Given the description of an element on the screen output the (x, y) to click on. 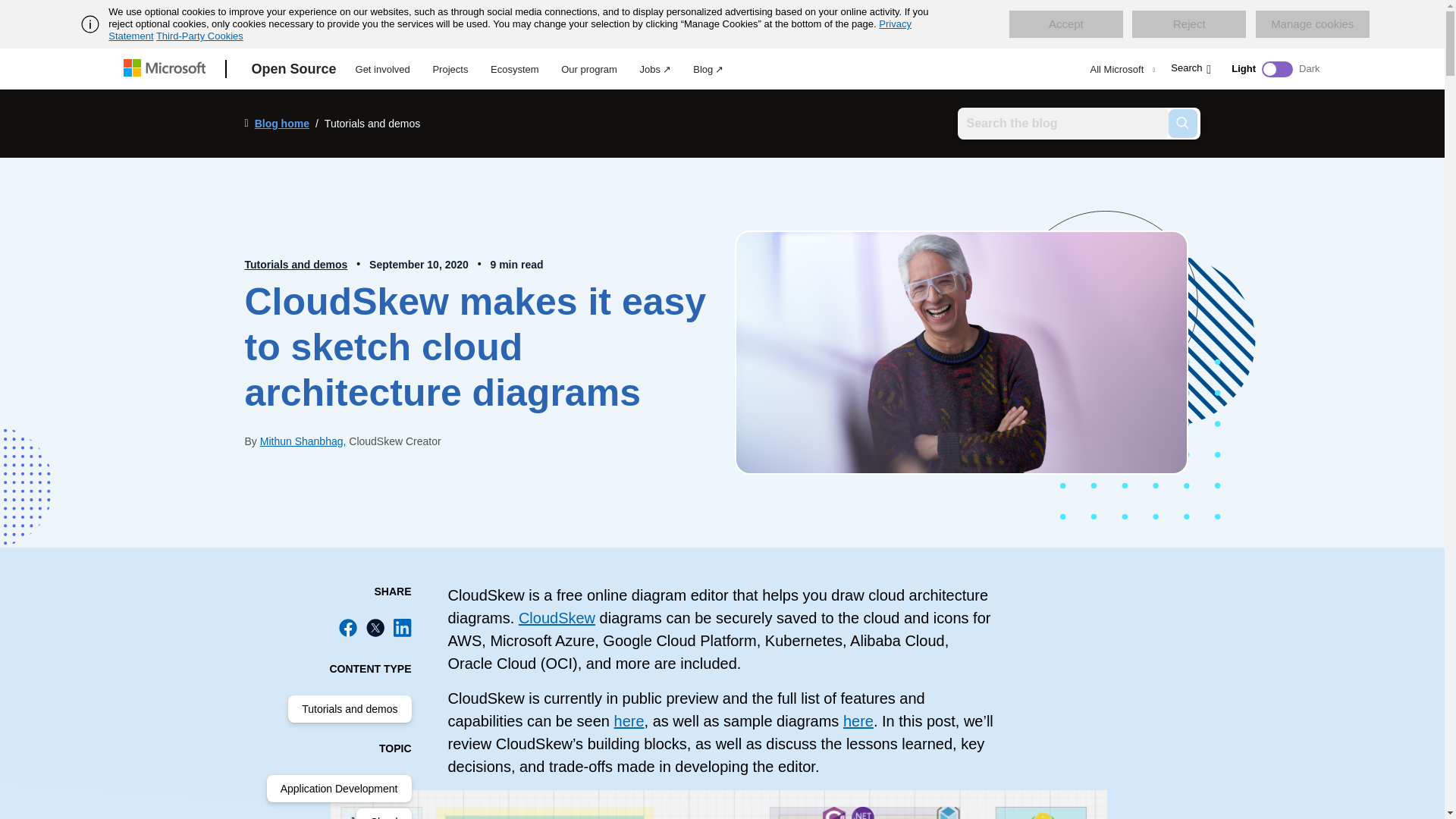
Jobs (655, 67)
Manage cookies (1312, 23)
Accept (1065, 23)
Third-Party Cookies (199, 35)
Projects (449, 67)
Blog (707, 67)
Our program (589, 67)
Microsoft (167, 69)
All Microsoft (1120, 69)
Open Source (293, 69)
